Given the description of an element on the screen output the (x, y) to click on. 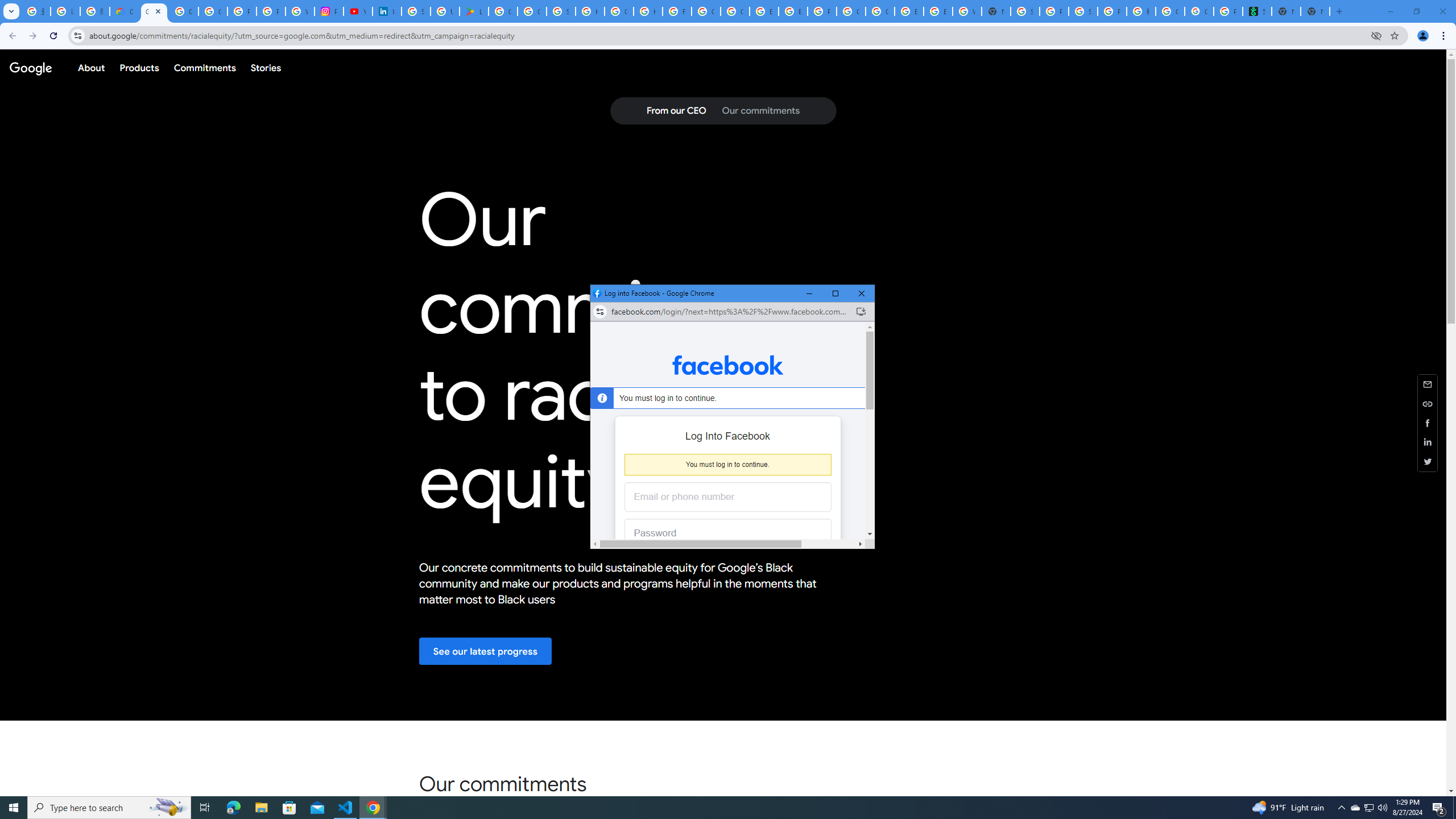
Show desktop (1454, 807)
Share this page (LinkedIn) (1427, 442)
Last Shelter: Survival - Apps on Google Play (473, 11)
Visual Studio Code - 1 running window (345, 807)
Google Cloud Platform (879, 11)
Google Cloud Platform (850, 11)
